Given the description of an element on the screen output the (x, y) to click on. 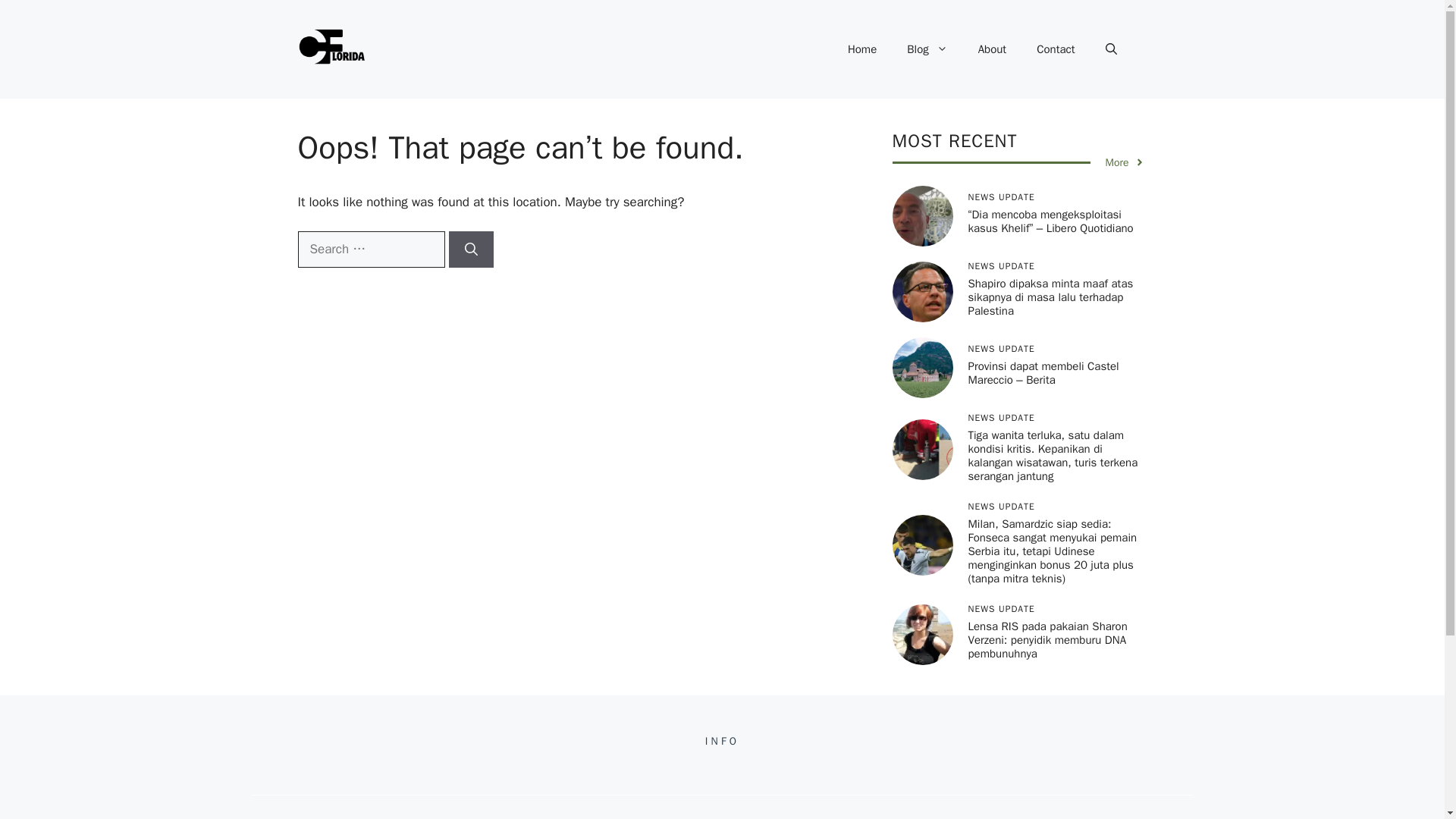
Contact (1055, 49)
Home (861, 49)
More (1124, 162)
Blog (926, 49)
Search for: (370, 248)
About (992, 49)
